Given the description of an element on the screen output the (x, y) to click on. 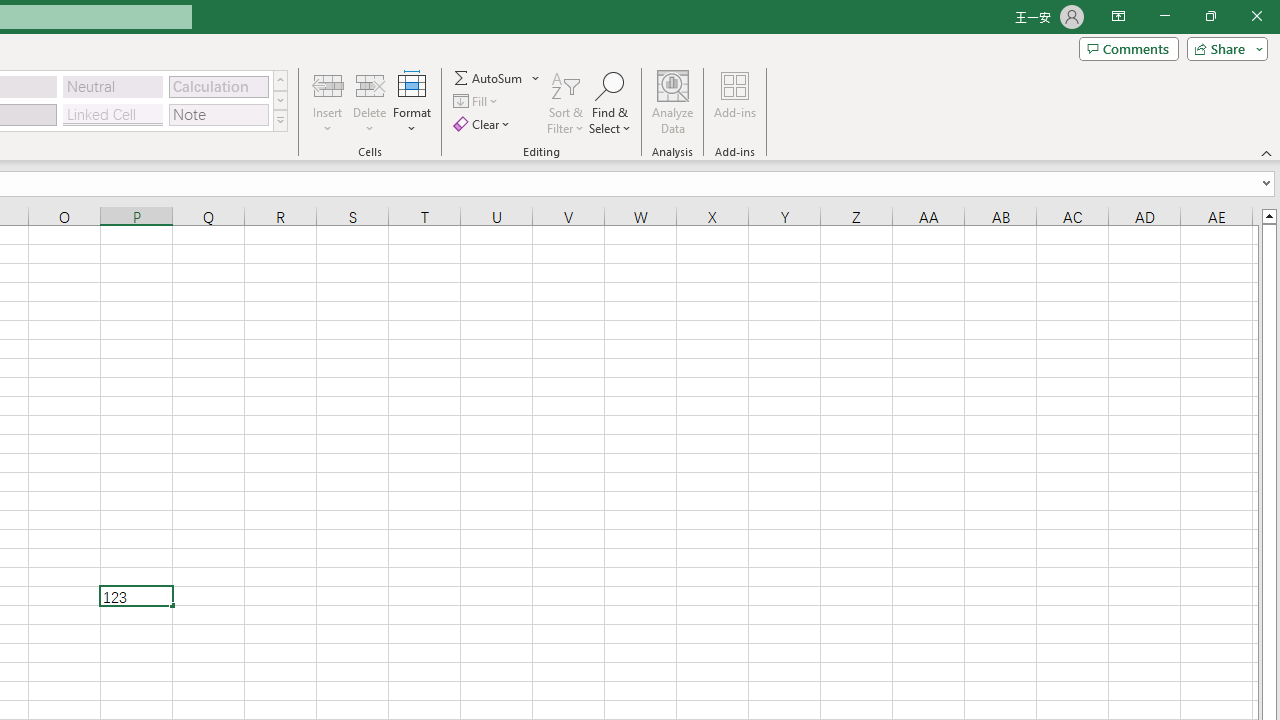
Fill (477, 101)
Restore Down (1210, 16)
Delete (369, 102)
Minimize (1164, 16)
Neutral (113, 86)
Linked Cell (113, 114)
Share (1223, 48)
Collapse the Ribbon (1267, 152)
Sum (489, 78)
Insert Cells (328, 84)
Find & Select (610, 102)
Cell Styles (280, 120)
Delete Cells... (369, 84)
